Given the description of an element on the screen output the (x, y) to click on. 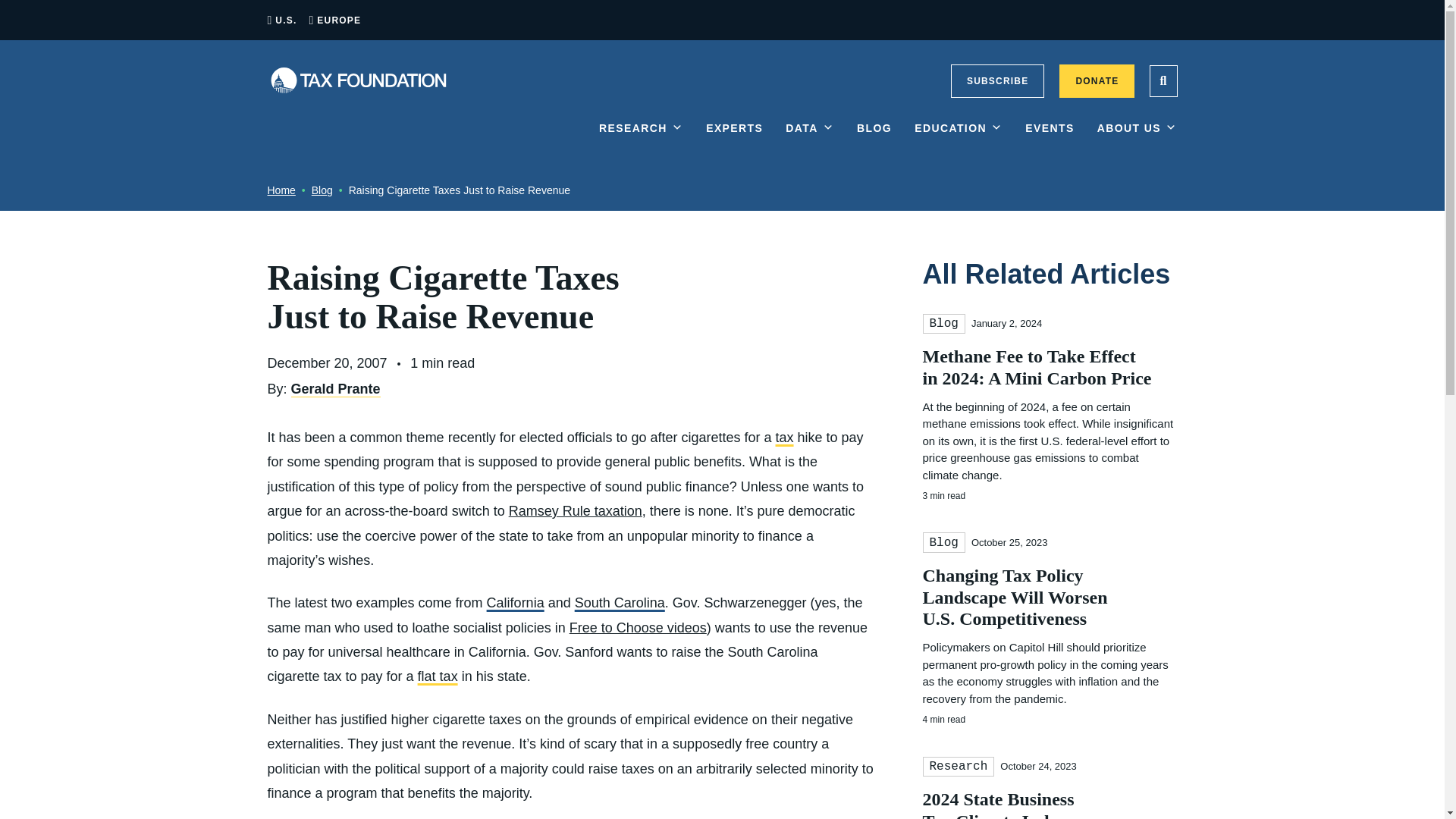
EUROPE (339, 20)
SUBSCRIBE (996, 80)
U.S. (286, 20)
RESEARCH (640, 140)
Tax Foundation (357, 80)
DATA (810, 140)
DONATE (1096, 80)
EXPERTS (734, 140)
